Given the description of an element on the screen output the (x, y) to click on. 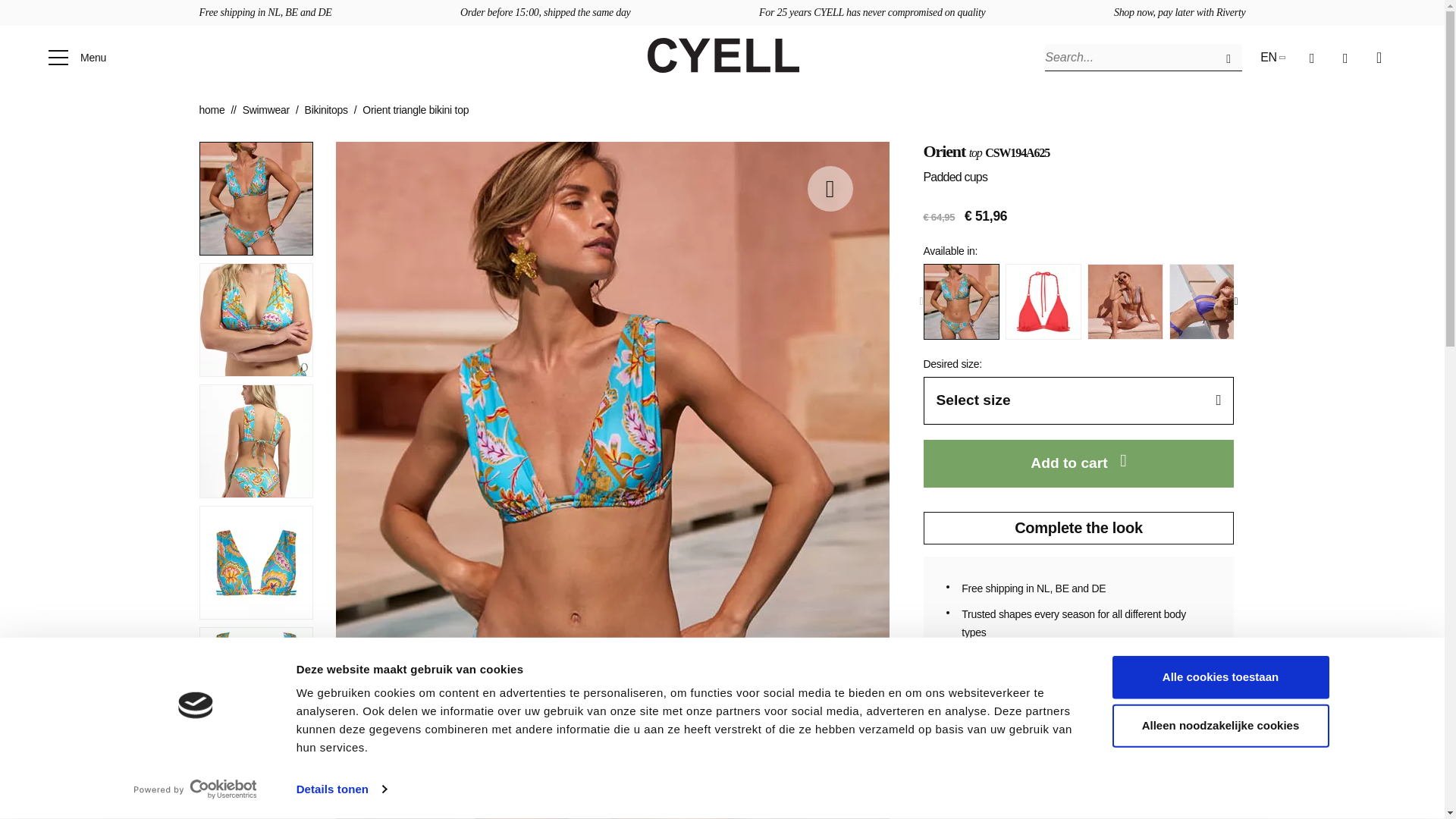
My favorites (1315, 57)
Mijn account (1348, 57)
Details tonen (342, 789)
